Given the description of an element on the screen output the (x, y) to click on. 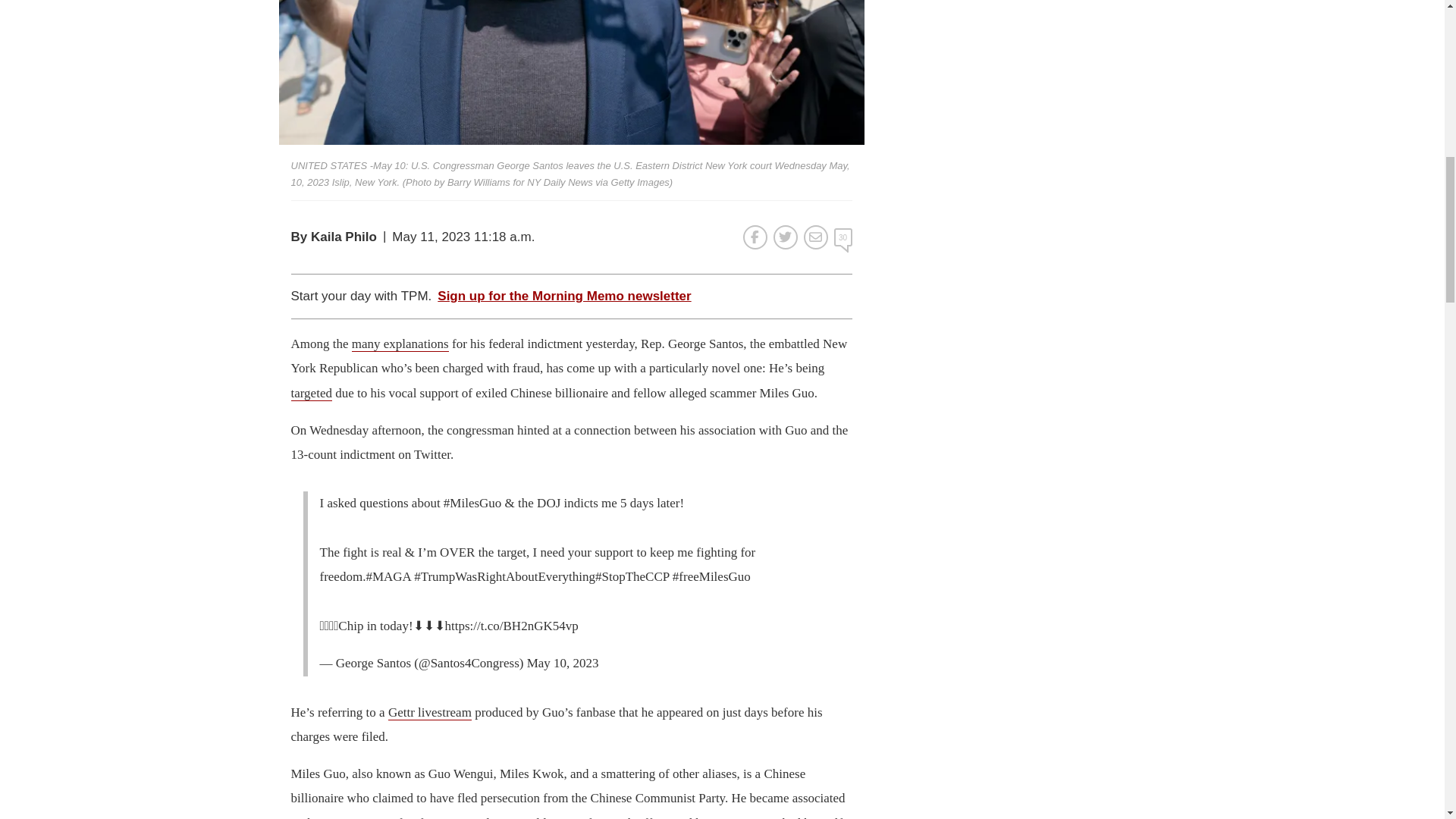
30 (842, 237)
Sign up for the Morning Memo newsletter (564, 296)
many explanations (400, 344)
targeted (311, 393)
